Given the description of an element on the screen output the (x, y) to click on. 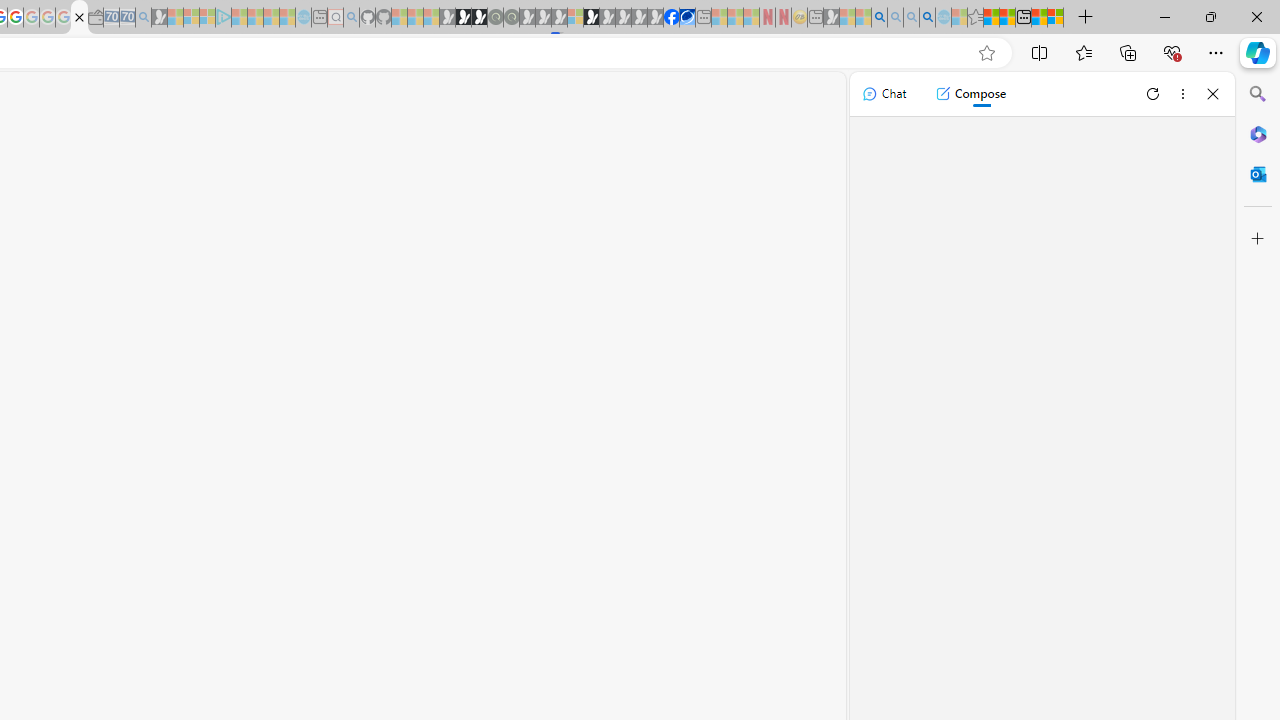
Compose (970, 93)
Home | Sky Blue Bikes - Sky Blue Bikes - Sleeping (303, 17)
Chat (884, 93)
New tab - Sleeping (815, 17)
Cheap Car Rentals - Save70.com - Sleeping (127, 17)
